Given the description of an element on the screen output the (x, y) to click on. 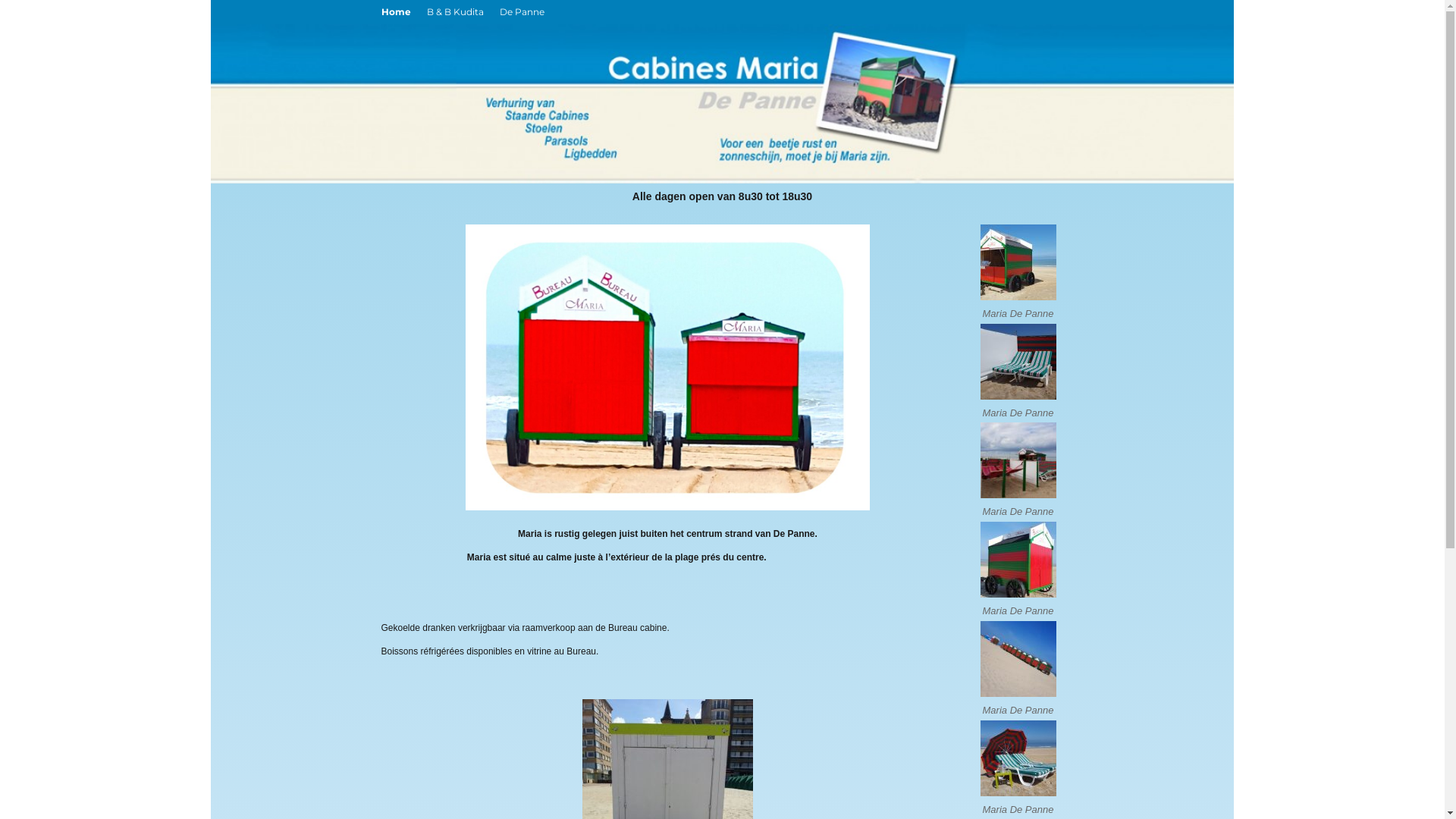
De Panne Element type: text (521, 12)
B & B Kudita Element type: text (454, 12)
Home Element type: text (395, 12)
Cabine Maria De Panne Element type: text (1101, 75)
